Given the description of an element on the screen output the (x, y) to click on. 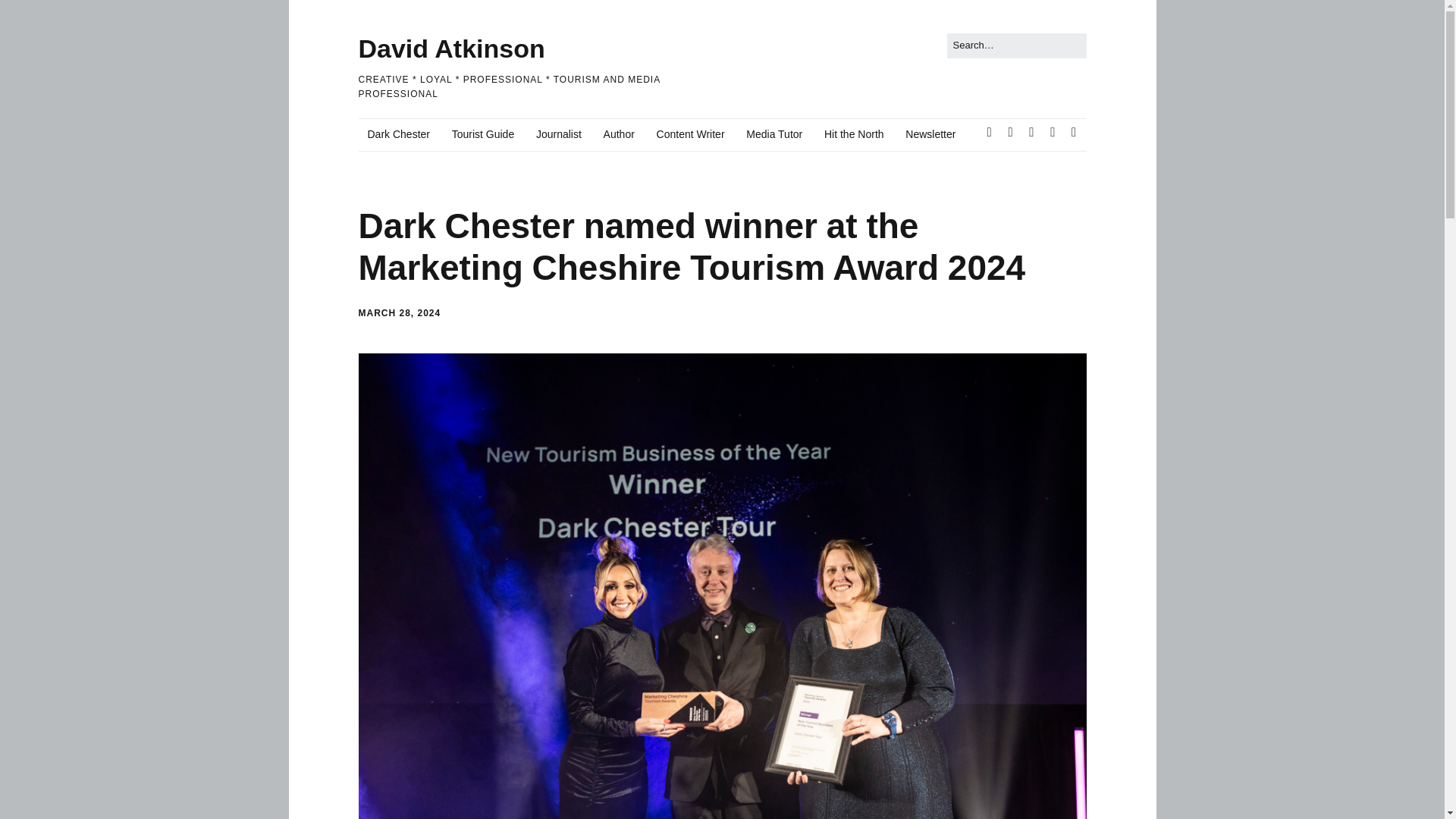
Press Enter to submit your search (1016, 45)
Tourist Guide (482, 134)
Media Tutor (773, 134)
Search (29, 15)
Newsletter (929, 134)
Dark Chester (398, 134)
Hit the North (854, 134)
Content Writer (690, 134)
David Atkinson (451, 48)
Author (618, 134)
